Given the description of an element on the screen output the (x, y) to click on. 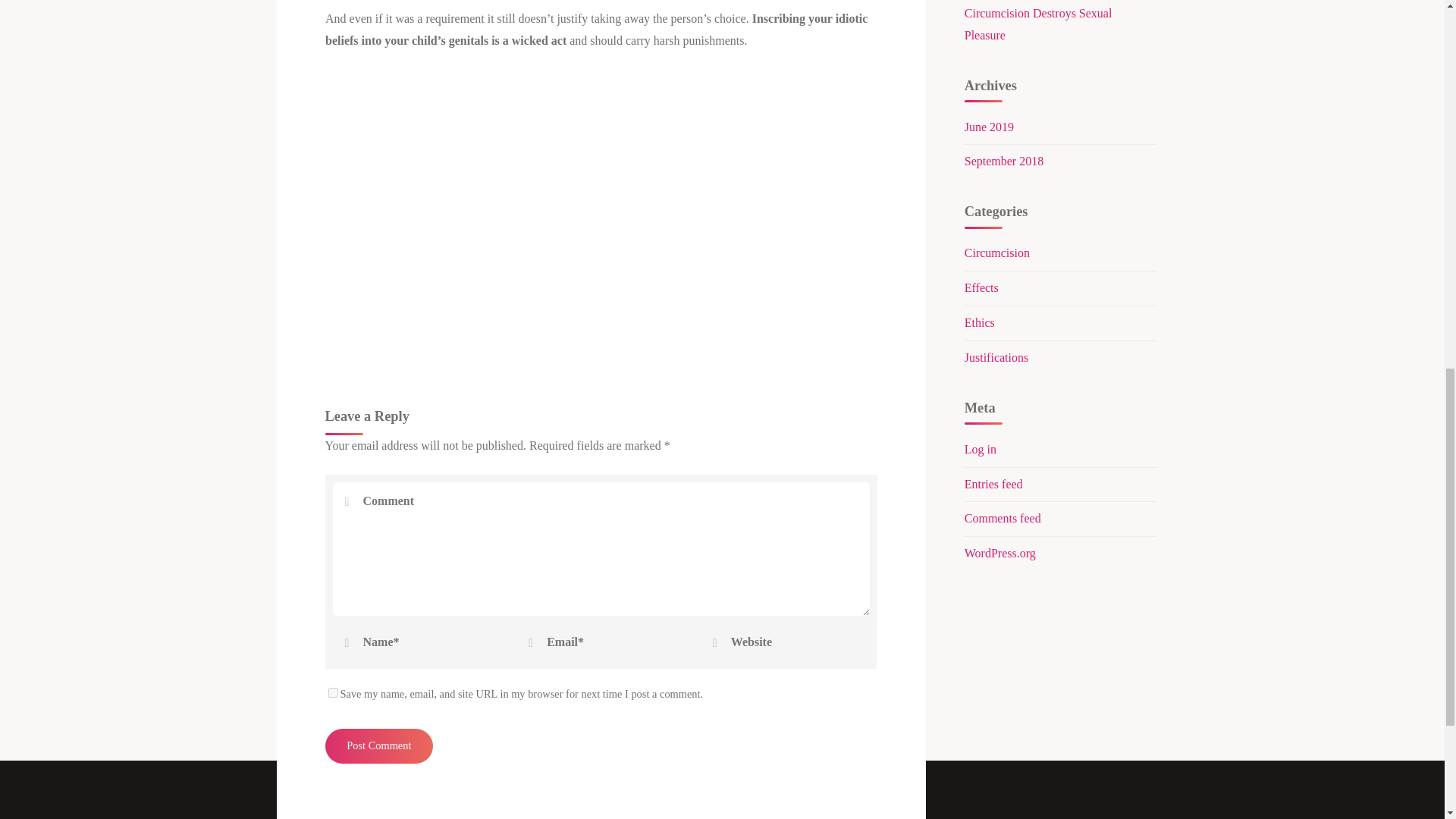
June 2019 (988, 126)
September 2018 (1003, 160)
yes (332, 692)
Post Comment (378, 745)
Post Comment (378, 745)
6 Reasons Circumcision Destroys Sexual Pleasure (1041, 20)
Circumcision (996, 252)
Justifications (995, 357)
Effects (980, 287)
Ethics (978, 322)
